Given the description of an element on the screen output the (x, y) to click on. 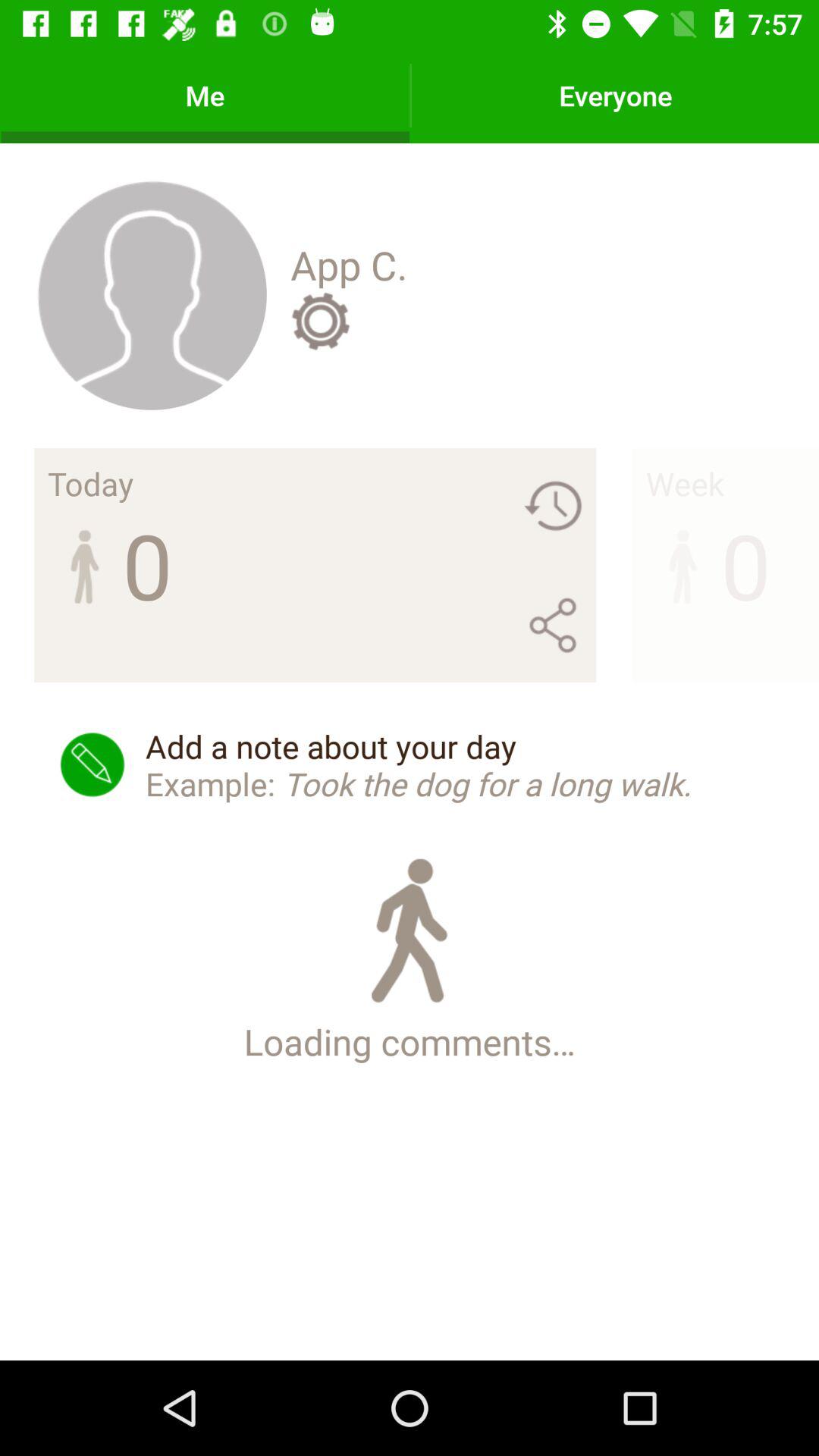
jump to app c. item (348, 264)
